Given the description of an element on the screen output the (x, y) to click on. 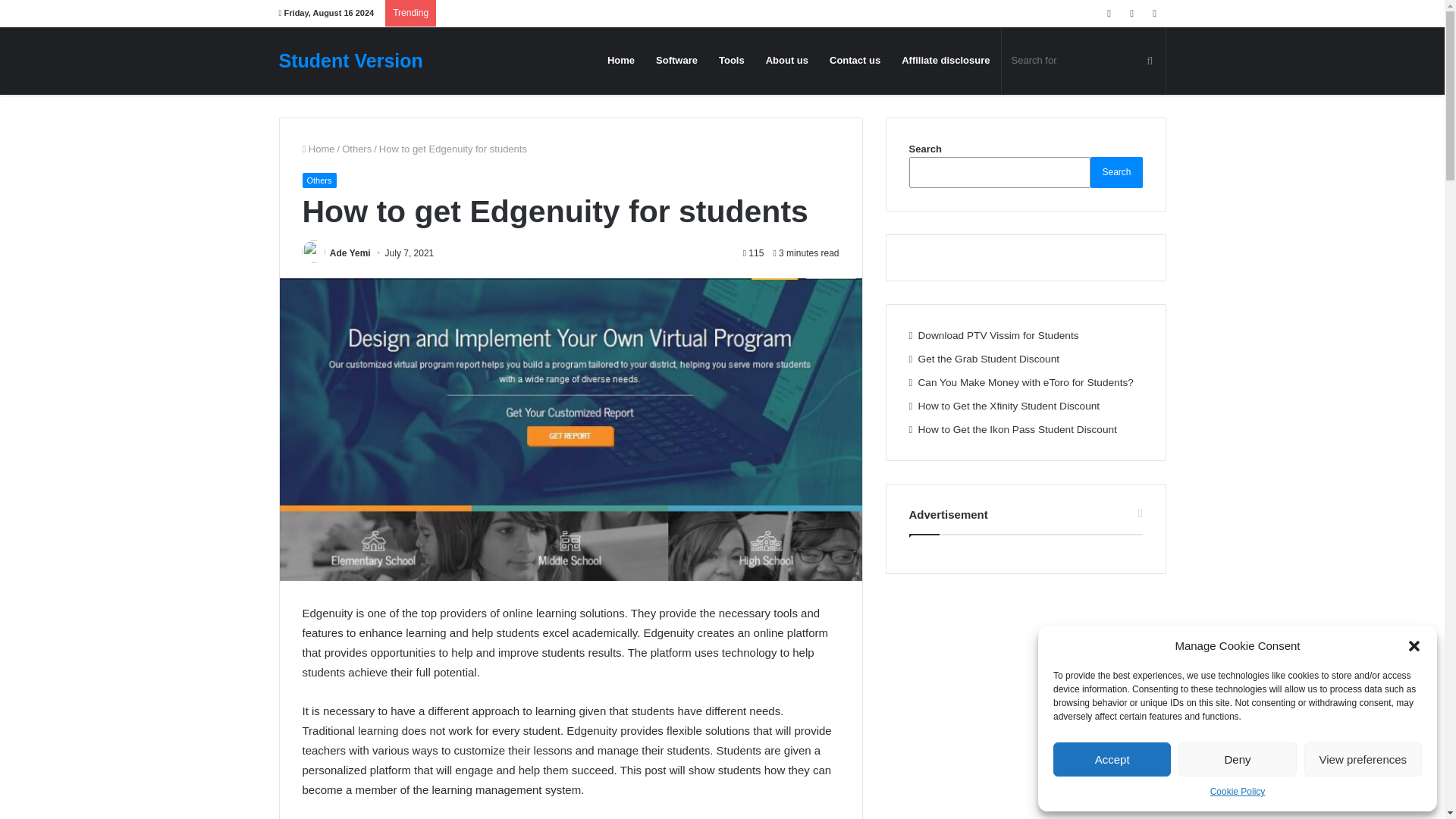
Cookie Policy (1237, 791)
Student Version (351, 60)
Student Version (351, 60)
Others (356, 148)
About us (786, 60)
Deny (1236, 759)
Search for (1082, 60)
Ade Yemi (350, 253)
View preferences (1363, 759)
Home (317, 148)
